Given the description of an element on the screen output the (x, y) to click on. 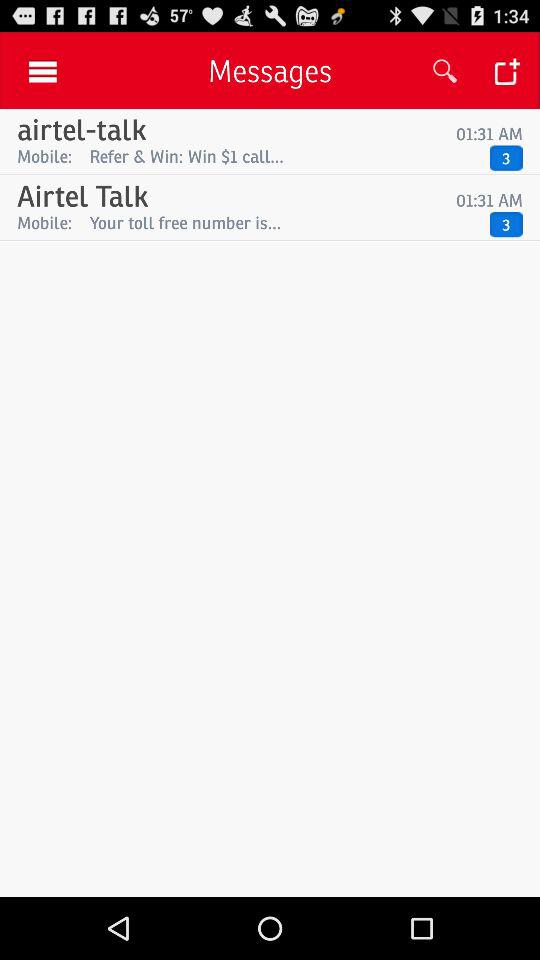
choose refer win win icon (284, 156)
